Given the description of an element on the screen output the (x, y) to click on. 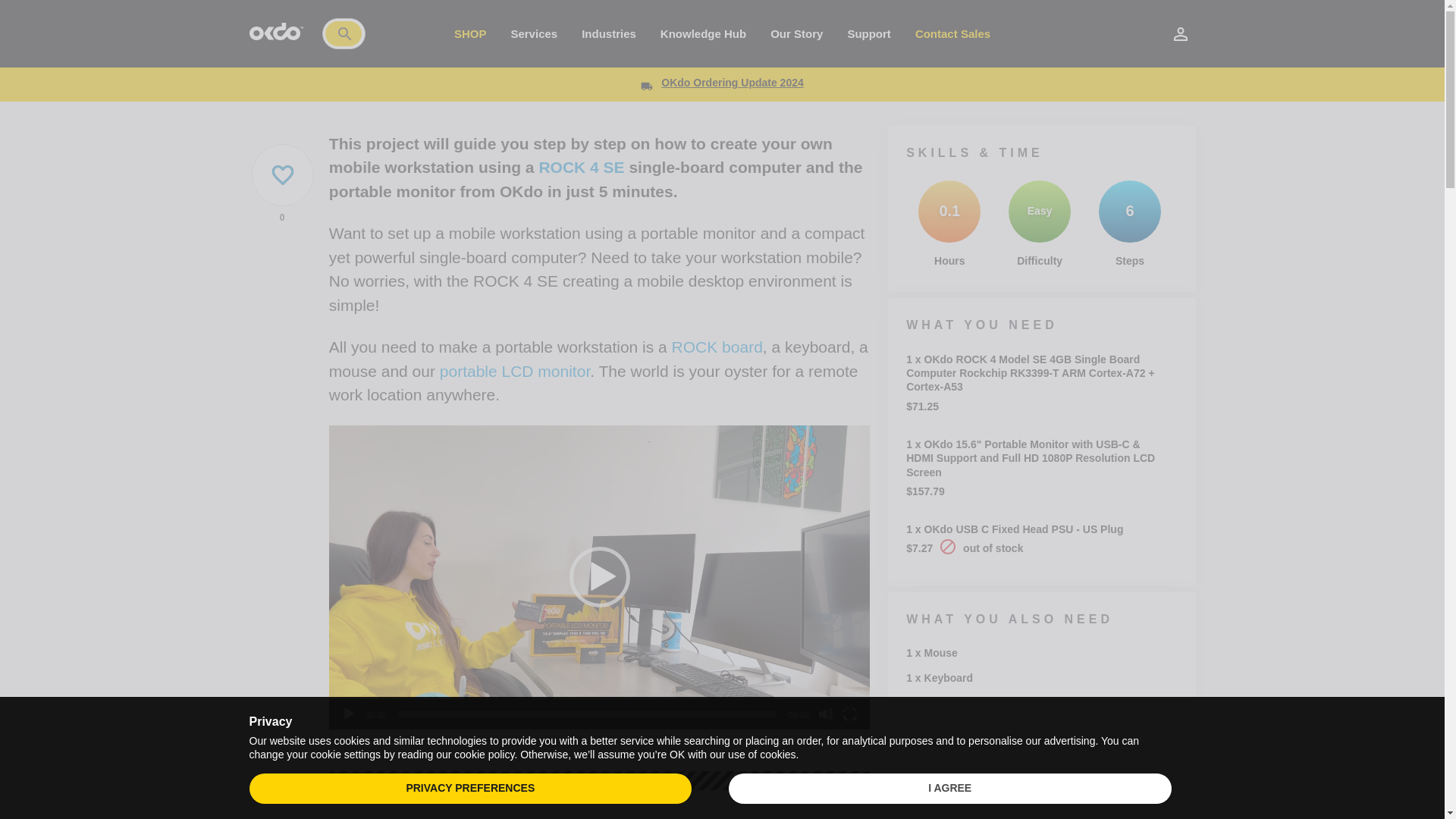
Fullscreen (850, 713)
SHOP (470, 33)
Mute (825, 713)
Play (348, 713)
